Given the description of an element on the screen output the (x, y) to click on. 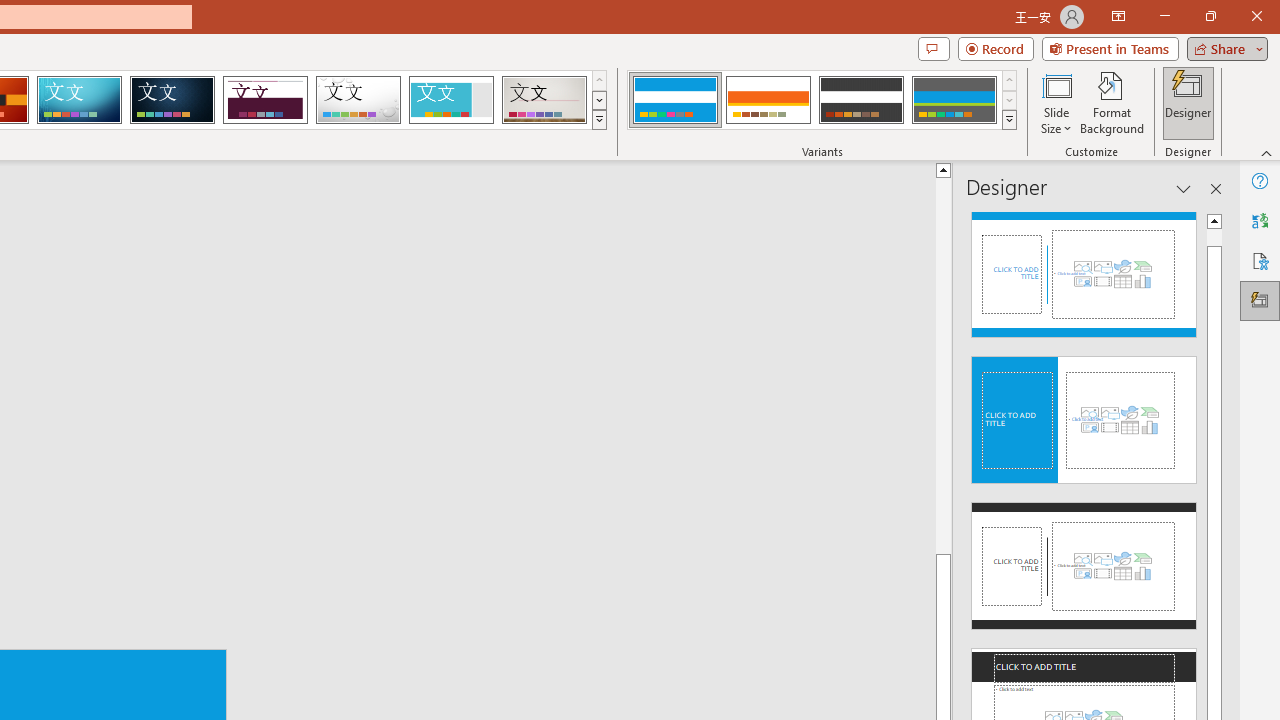
Banded Variant 1 (674, 100)
Variants (1009, 120)
Droplet (358, 100)
Banded Variant 4 (953, 100)
